Given the description of an element on the screen output the (x, y) to click on. 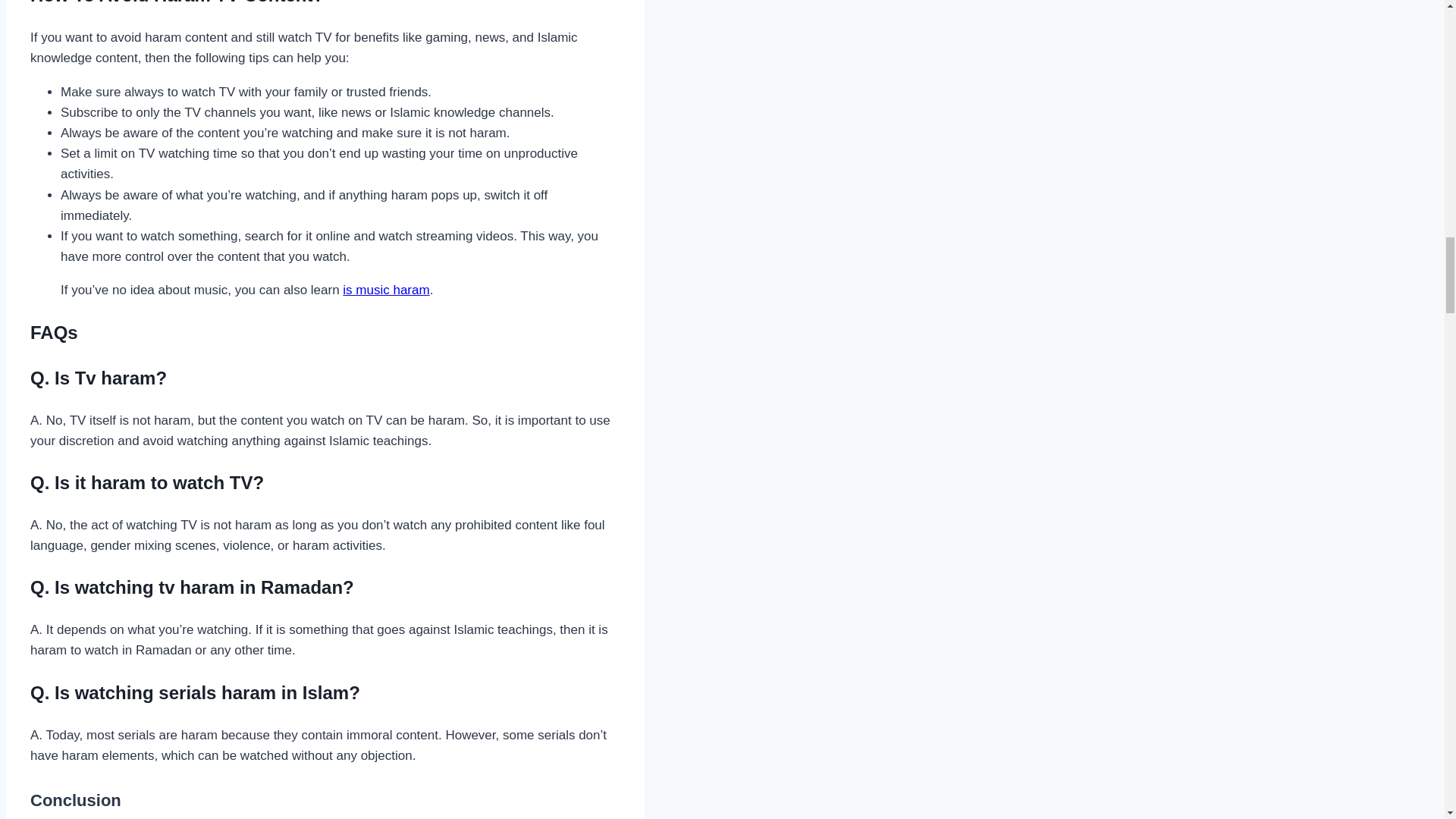
is music haram (385, 289)
